Given the description of an element on the screen output the (x, y) to click on. 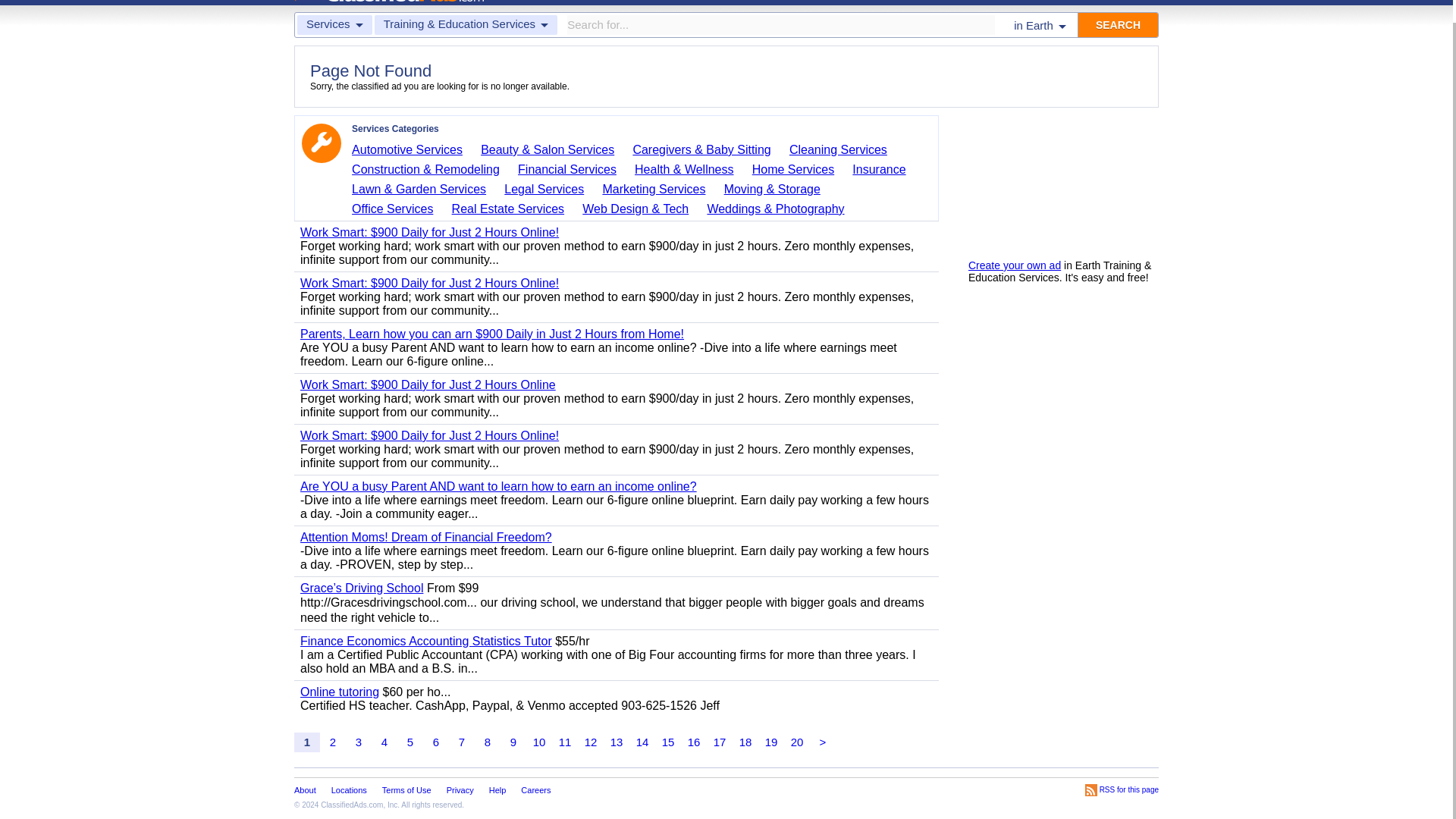
Log in (969, 0)
Cleaning Services (843, 149)
Create your own ad (1014, 265)
SEARCH (1117, 24)
SEARCH (1117, 24)
Automotive Services (412, 149)
Help (1028, 0)
